Given the description of an element on the screen output the (x, y) to click on. 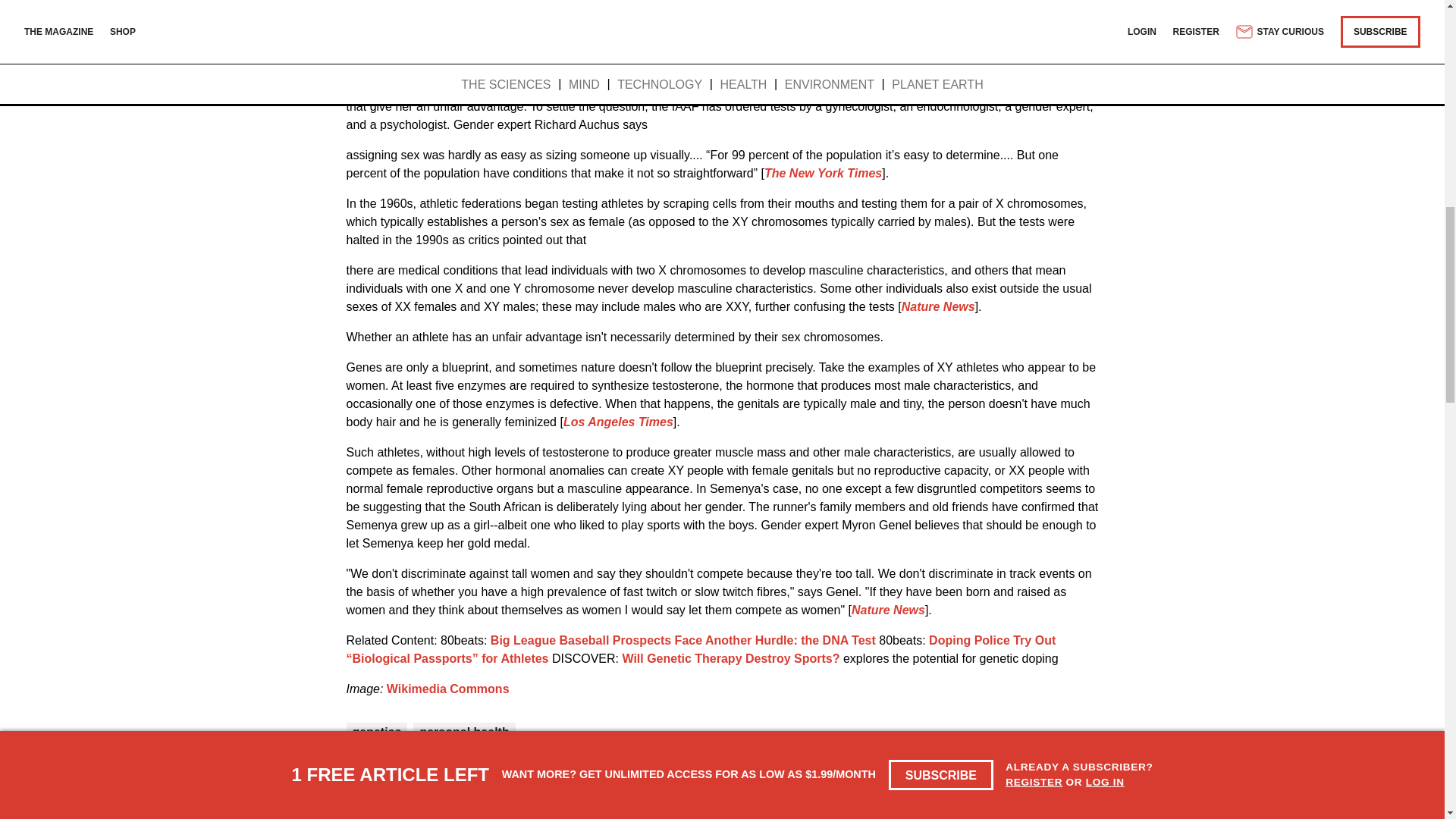
The New York Times (823, 173)
genetics (376, 731)
Will Genetic Therapy Destroy Sports? (730, 658)
gender (1069, 51)
race (834, 33)
Nature News (938, 306)
Wikimedia Commons (448, 688)
personal health (463, 731)
Los Angeles Times (617, 421)
Nature News (887, 609)
